Given the description of an element on the screen output the (x, y) to click on. 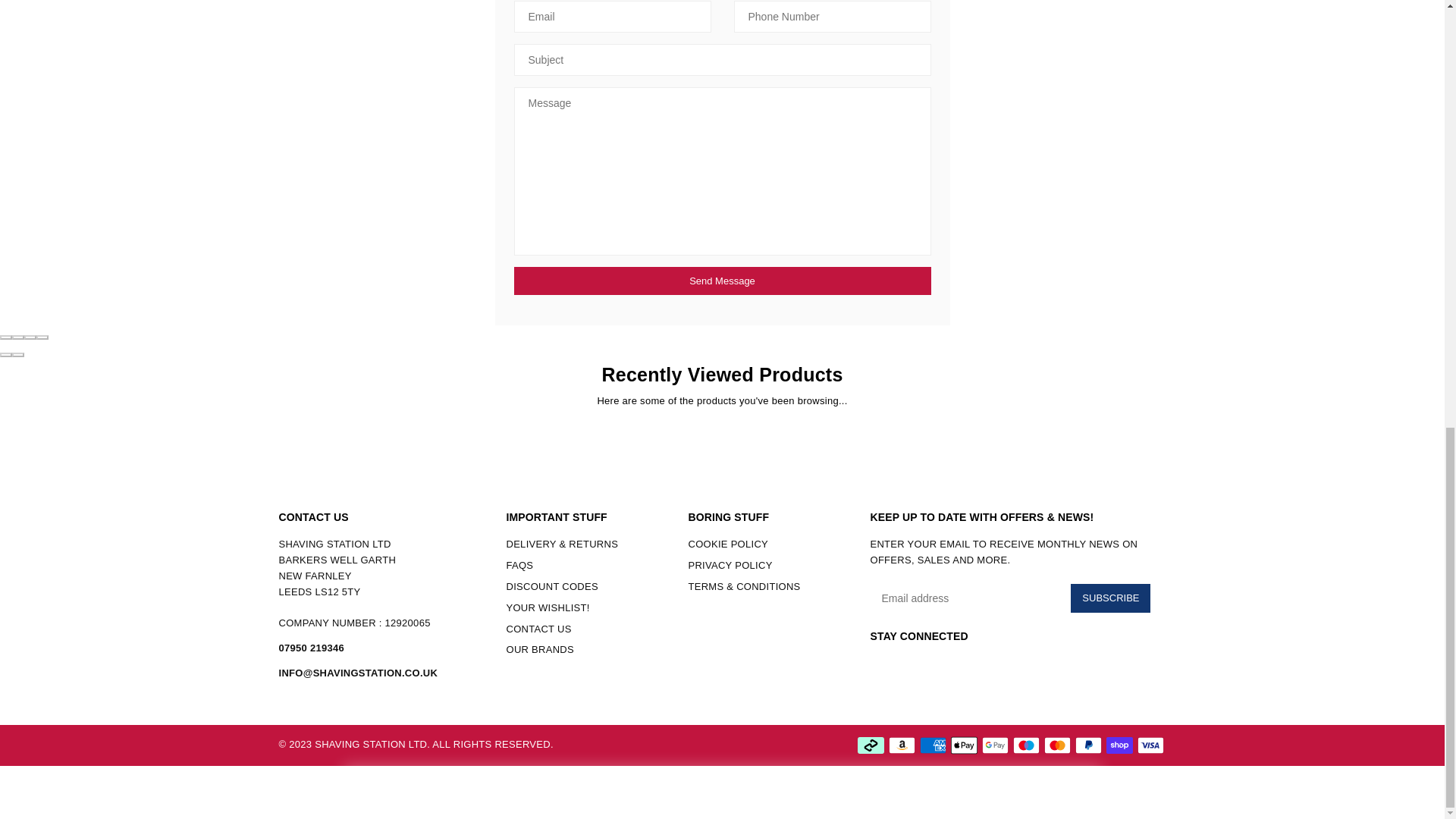
CLEARPAY (870, 745)
APPLE PAY (963, 745)
GOOGLE PAY (994, 745)
VISA (1150, 745)
MASTERCARD (1056, 745)
SUBSCRIBE (1110, 597)
AMERICAN EXPRESS (931, 745)
Send Message (722, 280)
AMAZON (901, 745)
Share (17, 336)
SHOP PAY (1118, 745)
PAYPAL (1088, 745)
MAESTRO (1026, 745)
Toggle fullscreen (30, 336)
